Given the description of an element on the screen output the (x, y) to click on. 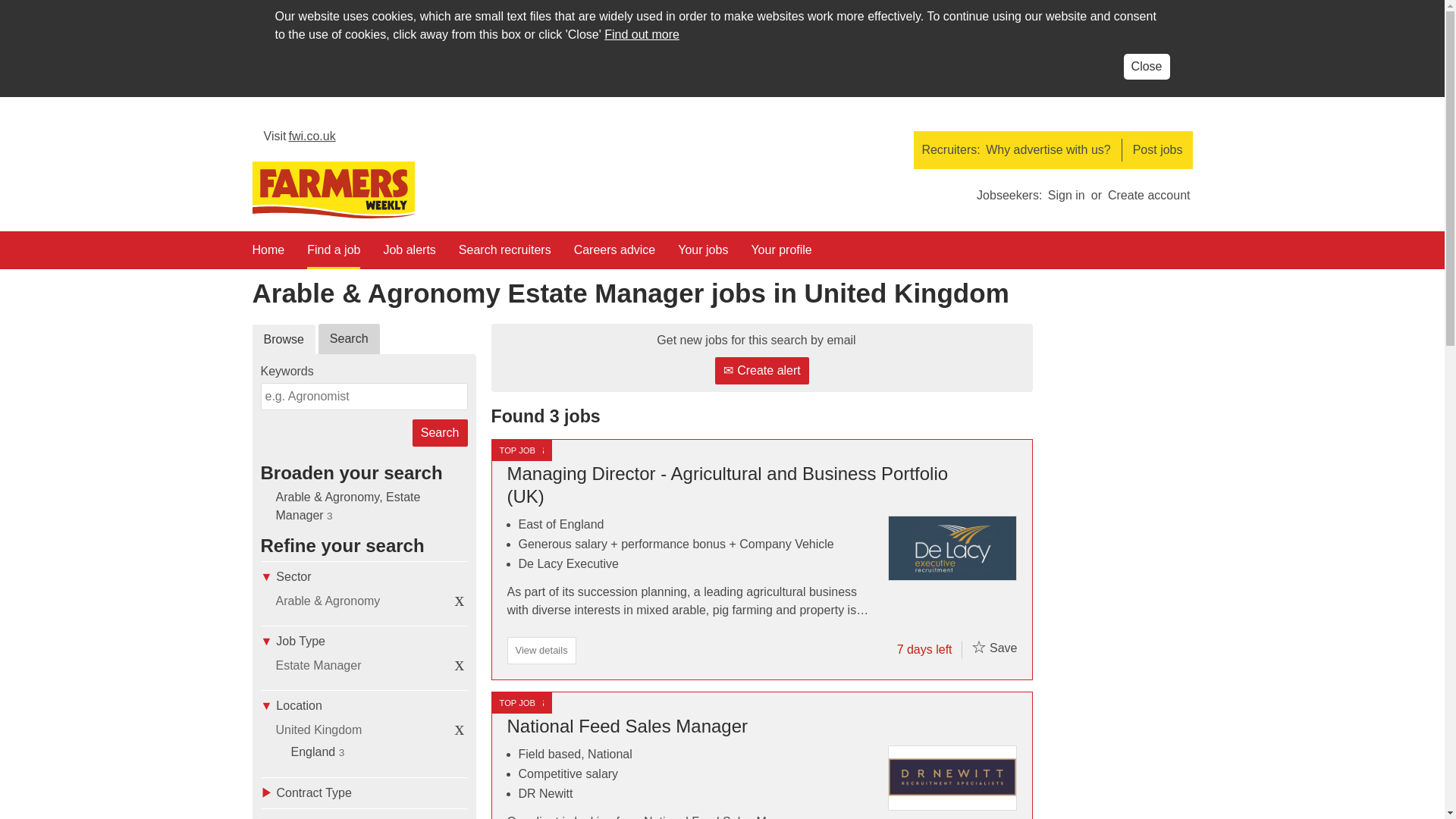
Sign in (1066, 195)
Search recruiters (504, 254)
England (313, 751)
Why advertise with us? (1048, 149)
Search (439, 432)
Location (363, 705)
Create alert (761, 370)
Job Type (363, 640)
Hours (363, 813)
Find out more (641, 33)
Add to shortlist (979, 646)
fwi.co.uk (299, 140)
Contract Type (363, 792)
Job alerts (408, 254)
Search (439, 432)
